Given the description of an element on the screen output the (x, y) to click on. 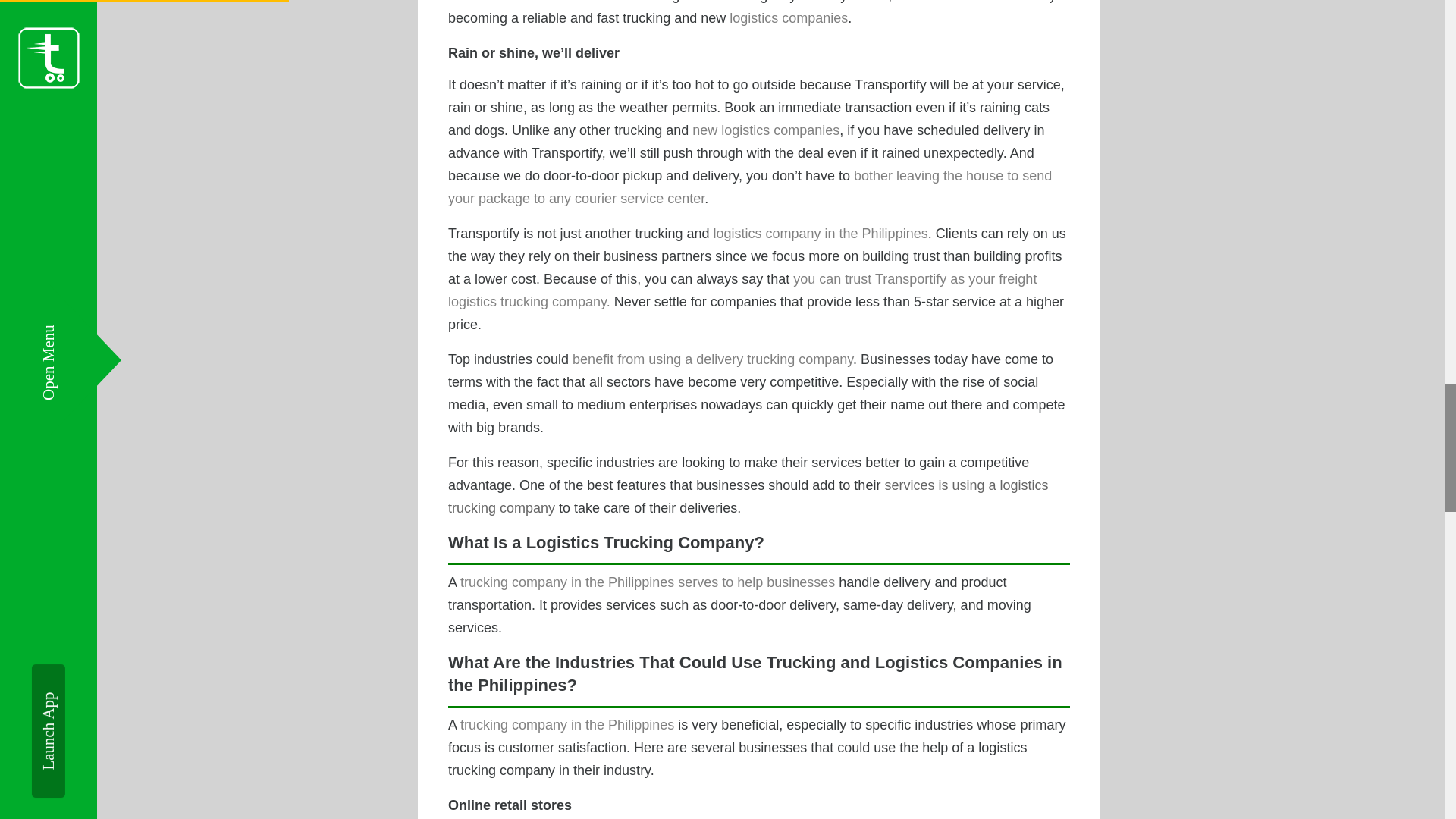
logistics company in the Philippines (820, 233)
benefit from using a delivery trucking company (712, 359)
new logistics companies (766, 130)
services is using a logistics trucking company (748, 496)
logistics companies (788, 17)
trucking company in the Philippines (567, 724)
